Given the description of an element on the screen output the (x, y) to click on. 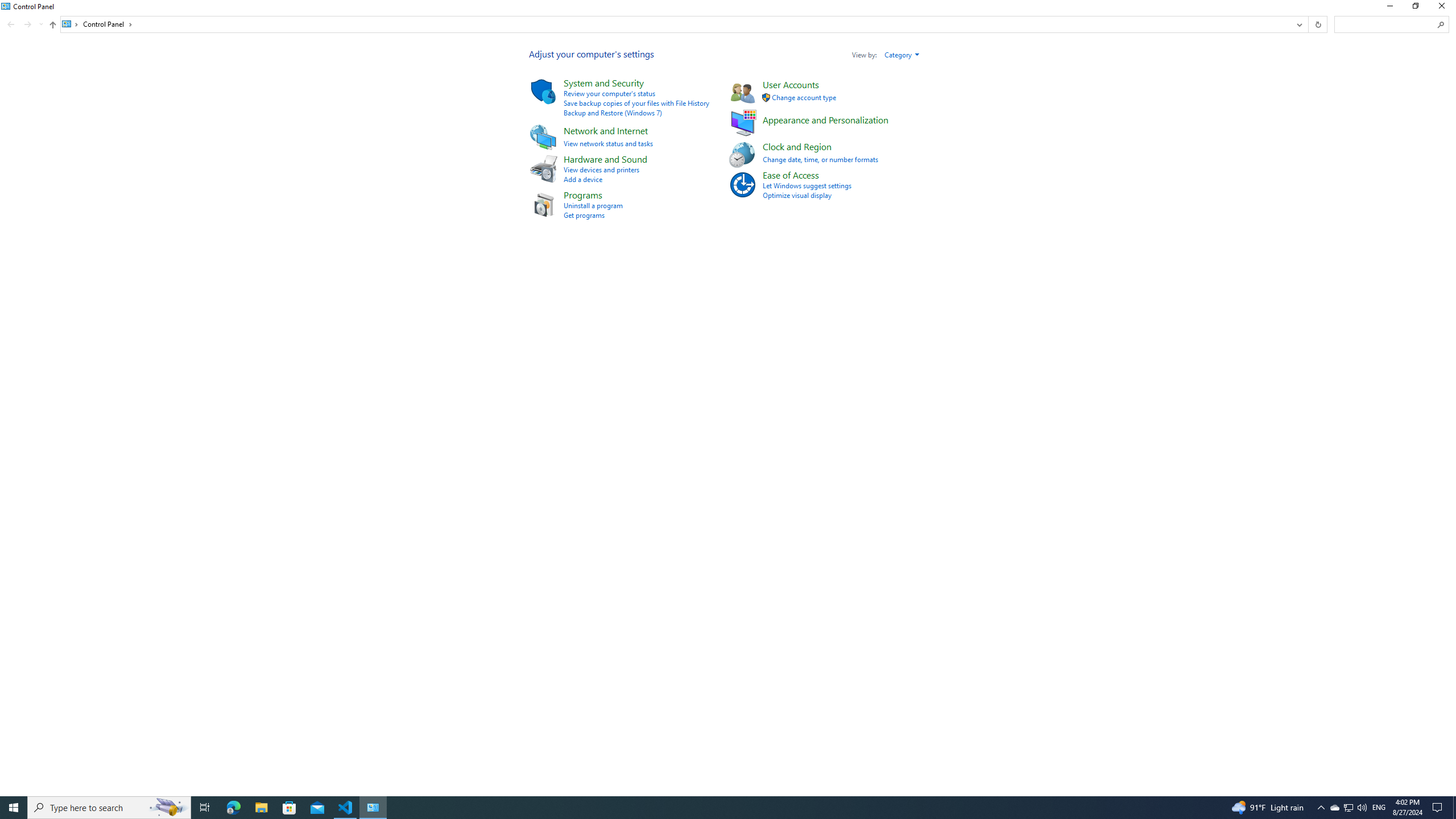
Change account type (803, 97)
Network and Internet (605, 130)
Let Windows suggest settings (807, 185)
Restore (1415, 8)
Previous Locations (1298, 23)
Hardware and Sound (604, 158)
Change date, time, or number formats (820, 159)
Get programs (583, 215)
Search Box (1386, 23)
Control Panel - 1 running window (373, 807)
